Given the description of an element on the screen output the (x, y) to click on. 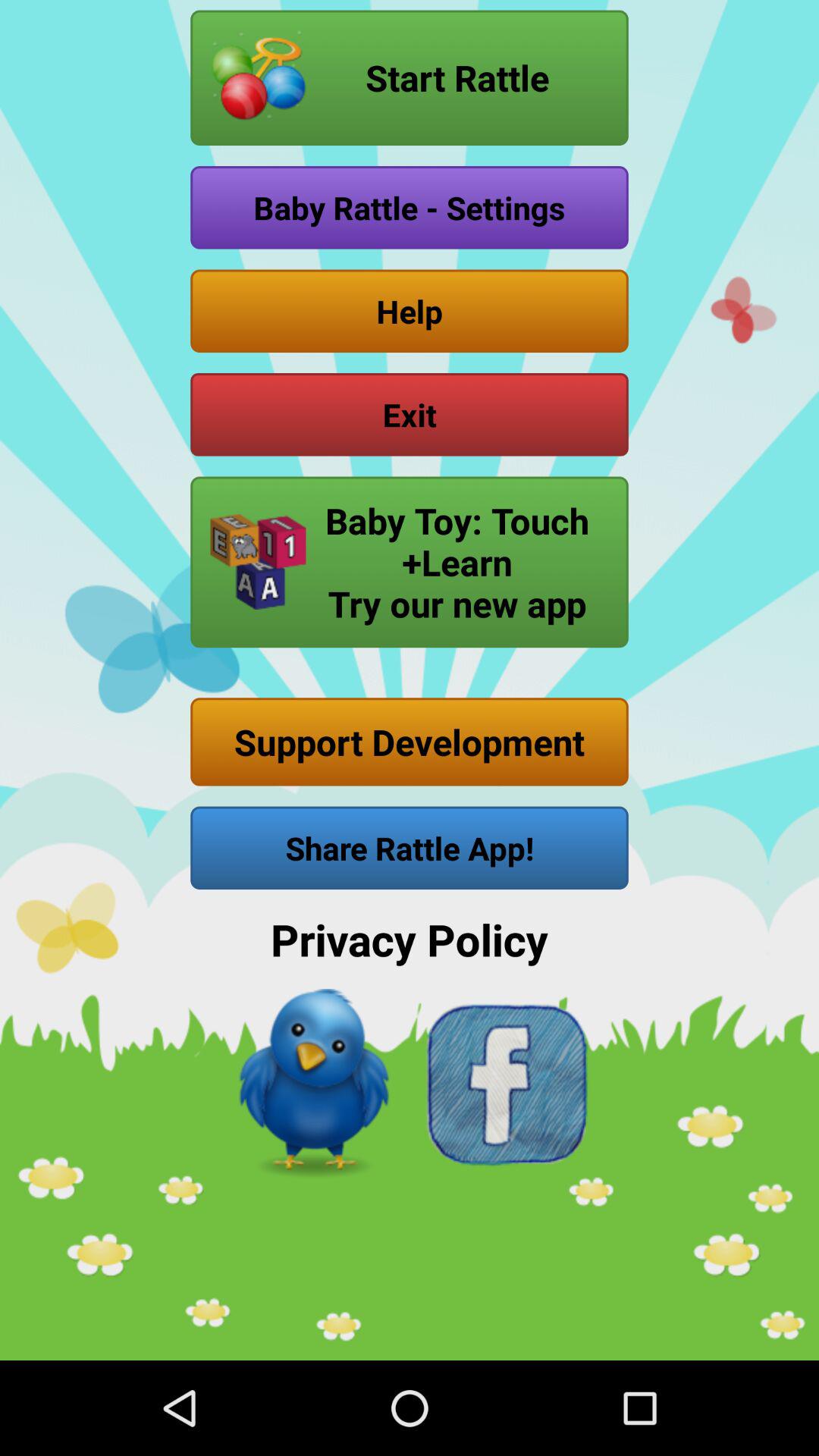
facebook (504, 1084)
